Given the description of an element on the screen output the (x, y) to click on. 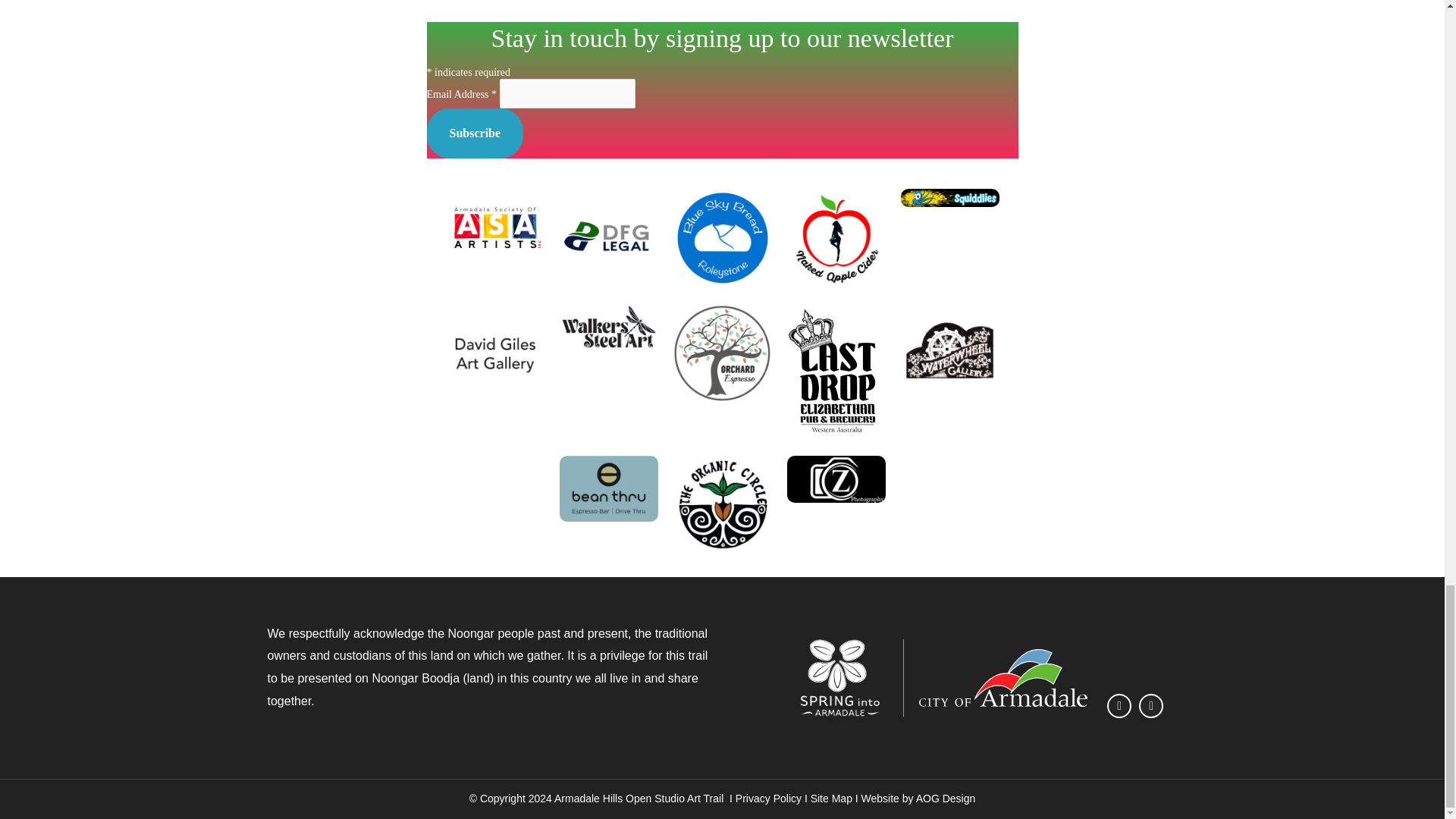
Subscribe (474, 133)
